Given the description of an element on the screen output the (x, y) to click on. 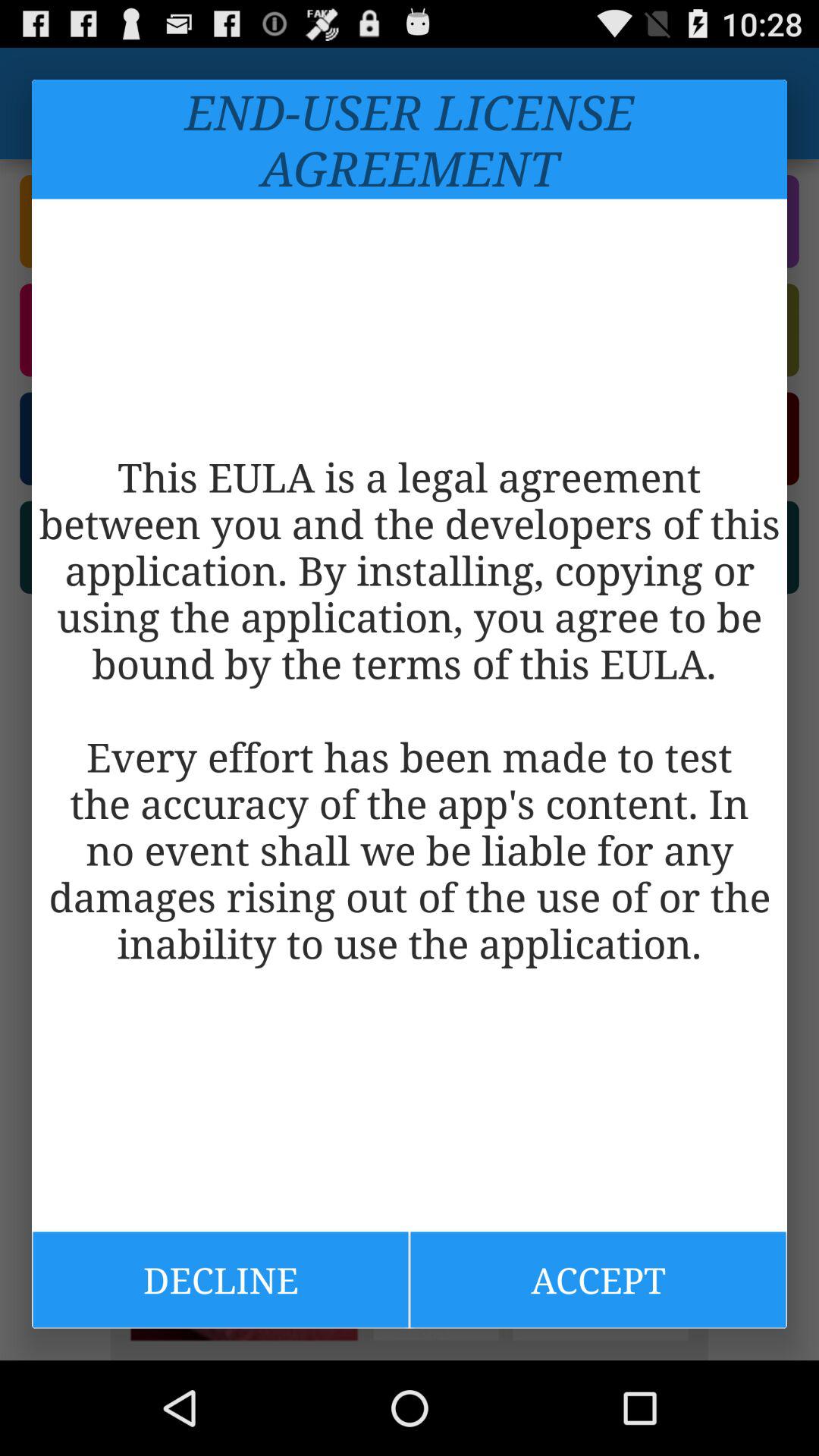
choose the accept item (598, 1279)
